Given the description of an element on the screen output the (x, y) to click on. 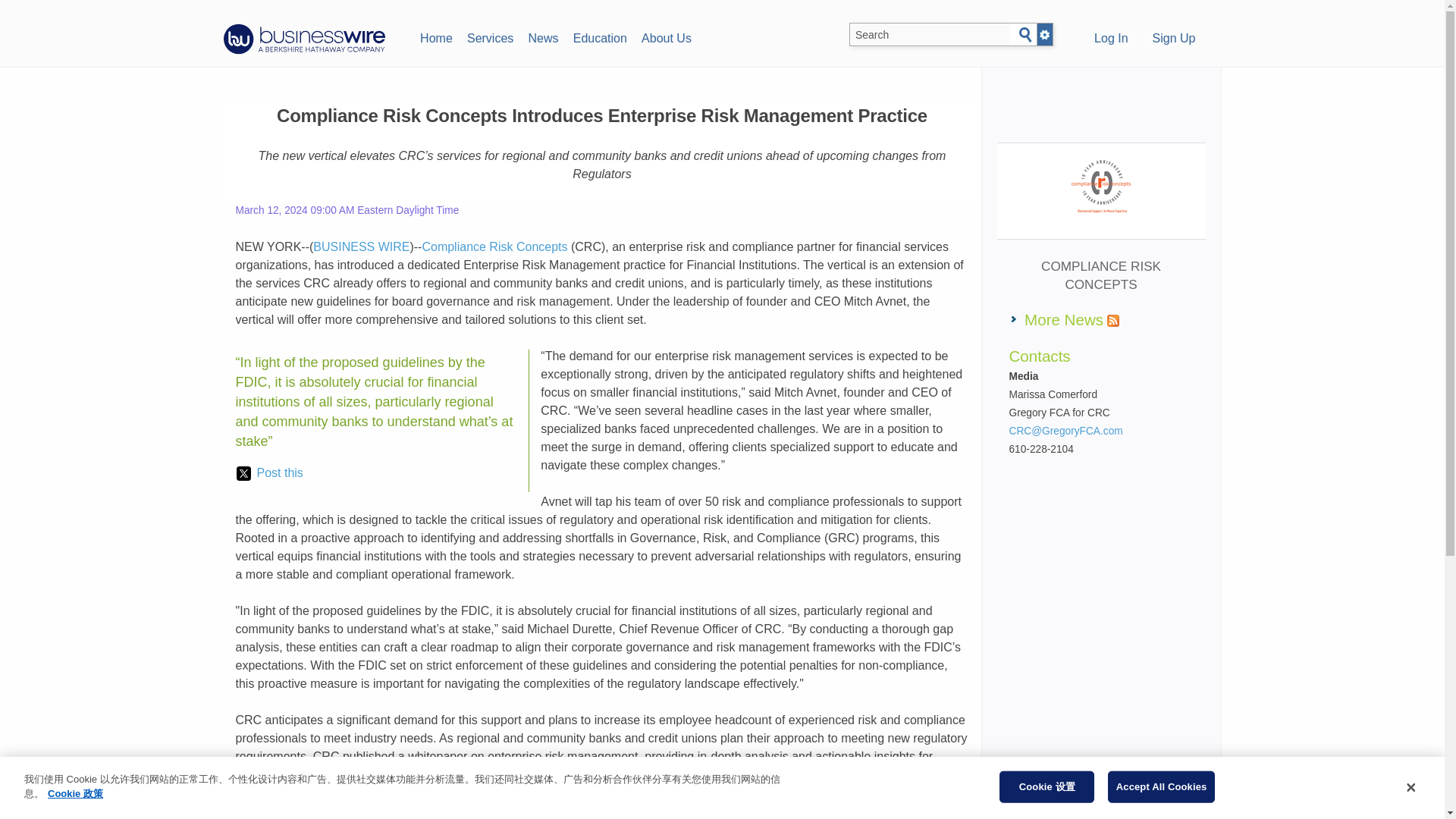
here (639, 774)
Services (490, 36)
Search BusinessWire.com (930, 34)
Home (436, 36)
RSS feed for null (1112, 320)
About Us (665, 36)
Search (1025, 34)
News (543, 36)
BUSINESS WIRE (361, 246)
Post this (269, 472)
